Given the description of an element on the screen output the (x, y) to click on. 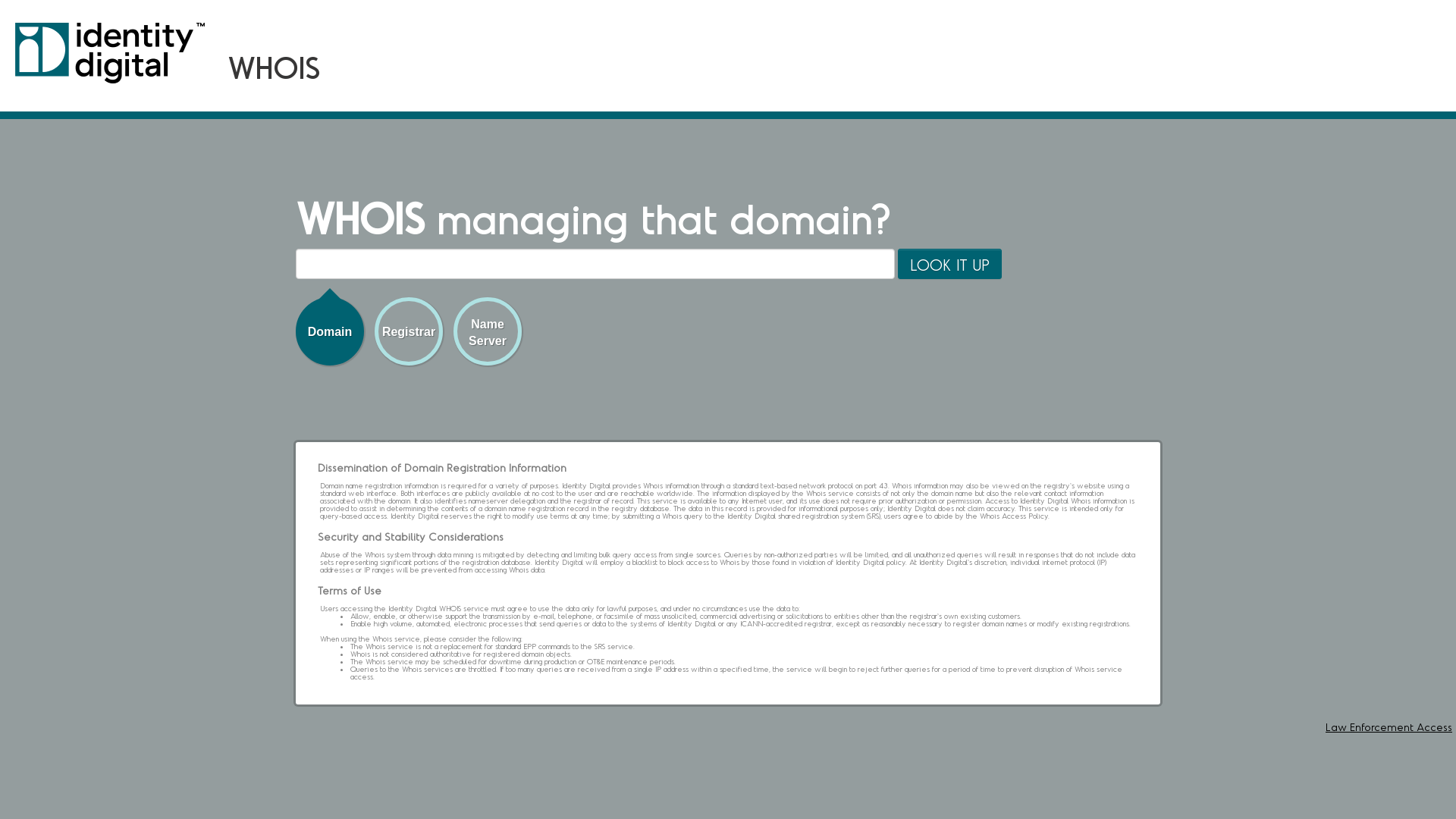
Look It Up Element type: text (949, 263)
Law Enforcement Access Element type: text (1388, 726)
